Given the description of an element on the screen output the (x, y) to click on. 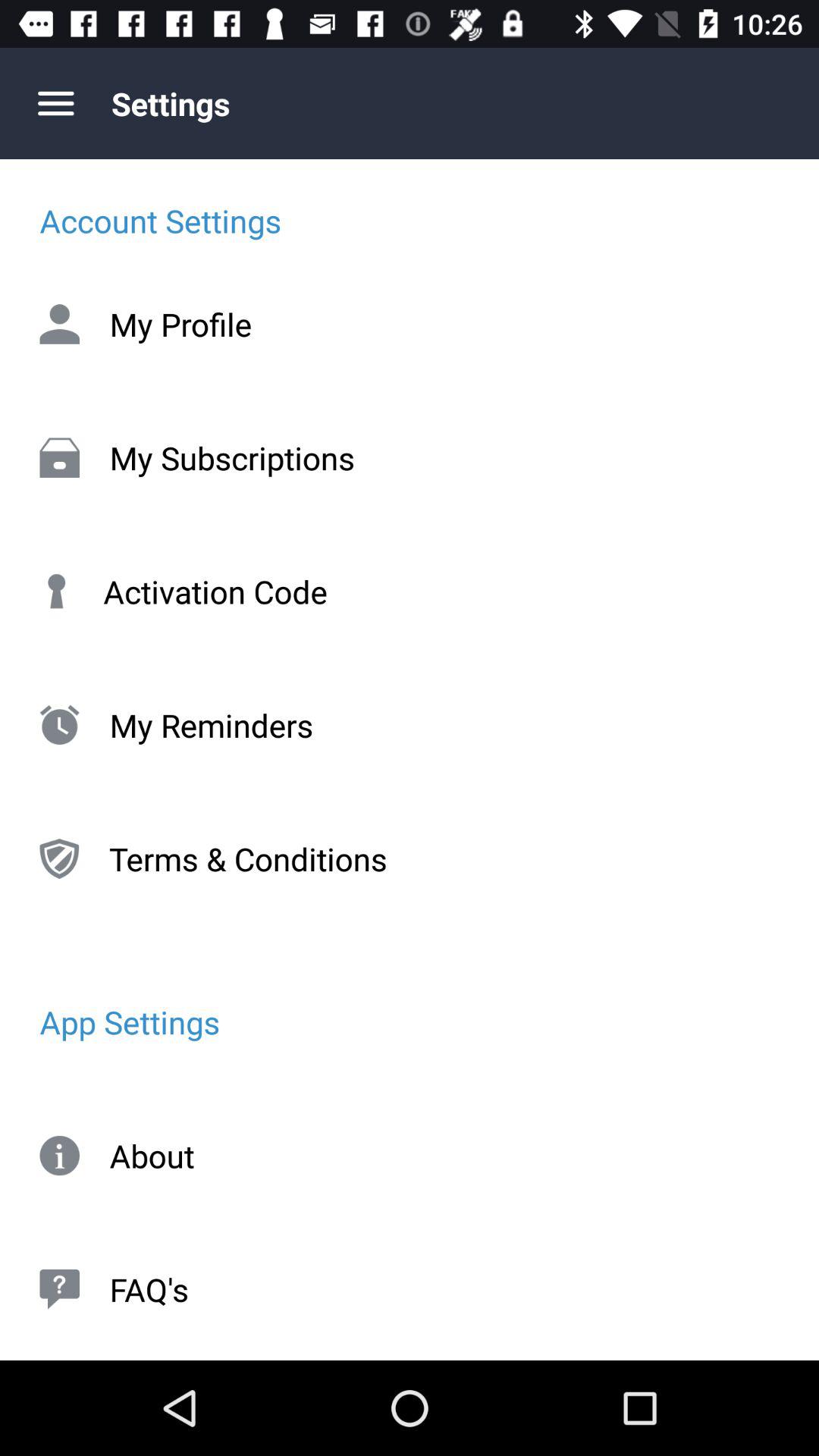
press item next to the settings (55, 103)
